Given the description of an element on the screen output the (x, y) to click on. 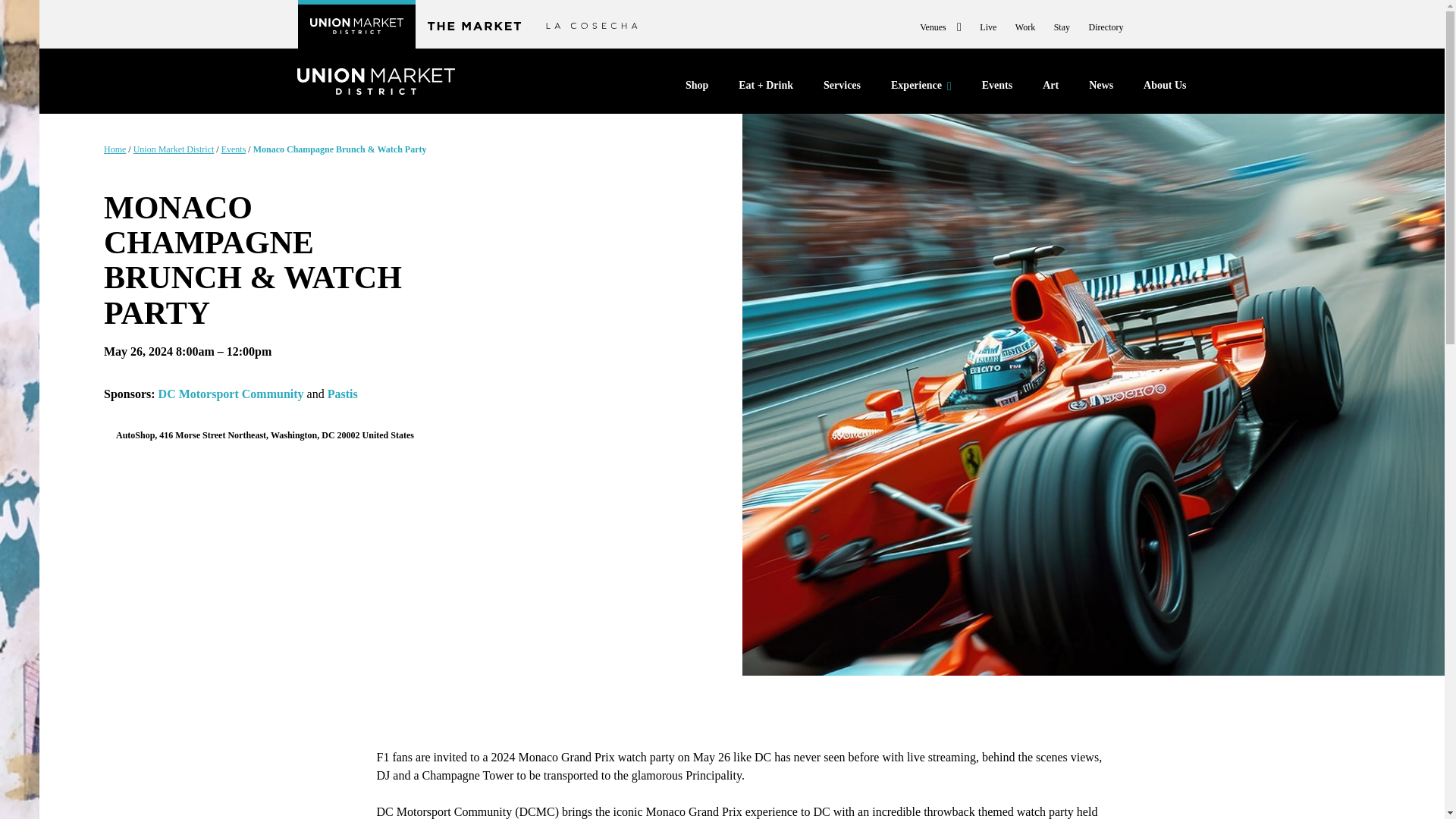
Shop (696, 88)
Stay (1062, 27)
About Us (1164, 88)
News (1101, 88)
Experience (921, 87)
Events (996, 88)
District of Columbia (327, 434)
Directory (1106, 27)
Work (1024, 27)
Live (987, 27)
Art (1050, 88)
Venues (940, 27)
Services (842, 88)
